Given the description of an element on the screen output the (x, y) to click on. 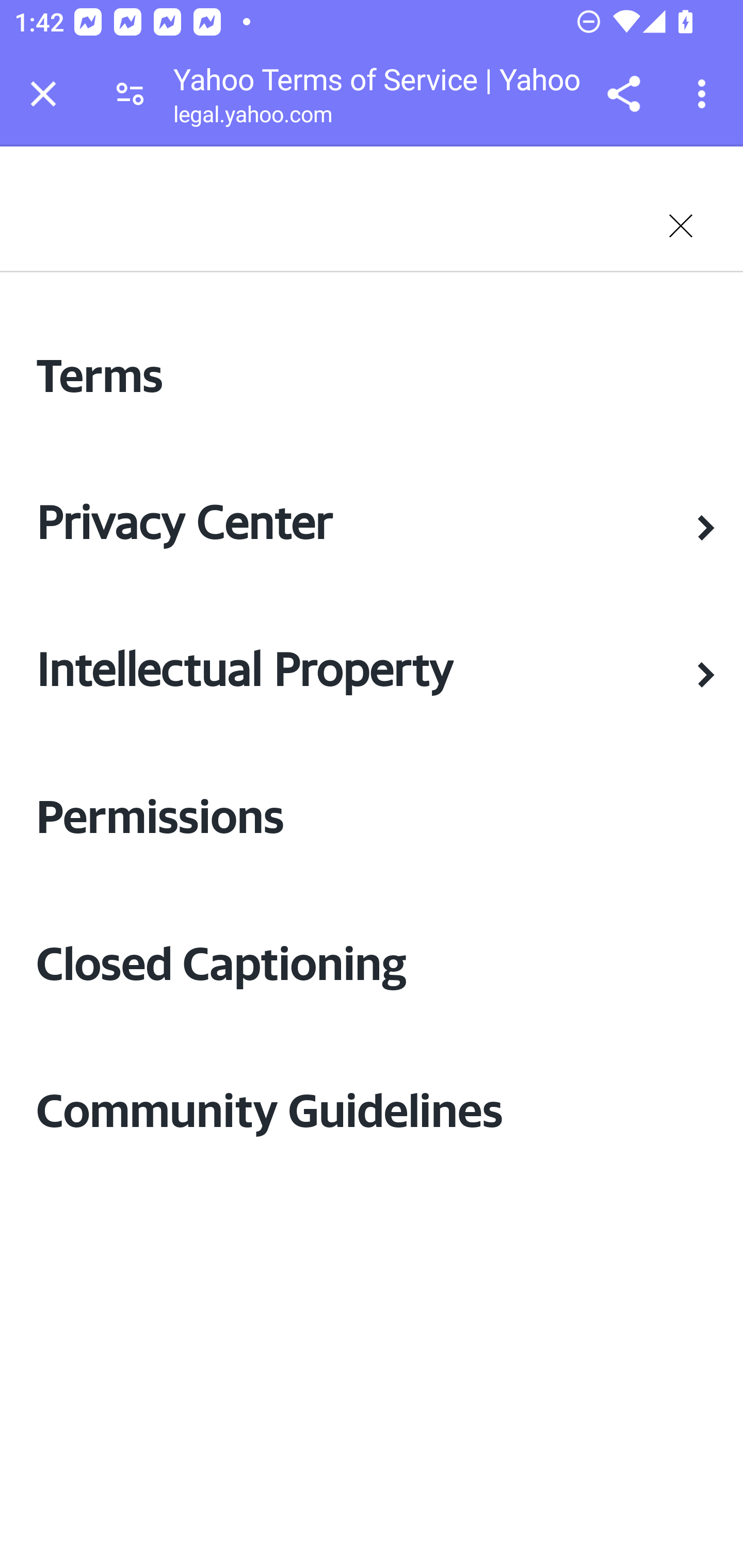
Close tab (43, 93)
Share (623, 93)
Customize and control Google Chrome (705, 93)
Connection is secure (129, 93)
legal.yahoo.com (252, 117)
